Given the description of an element on the screen output the (x, y) to click on. 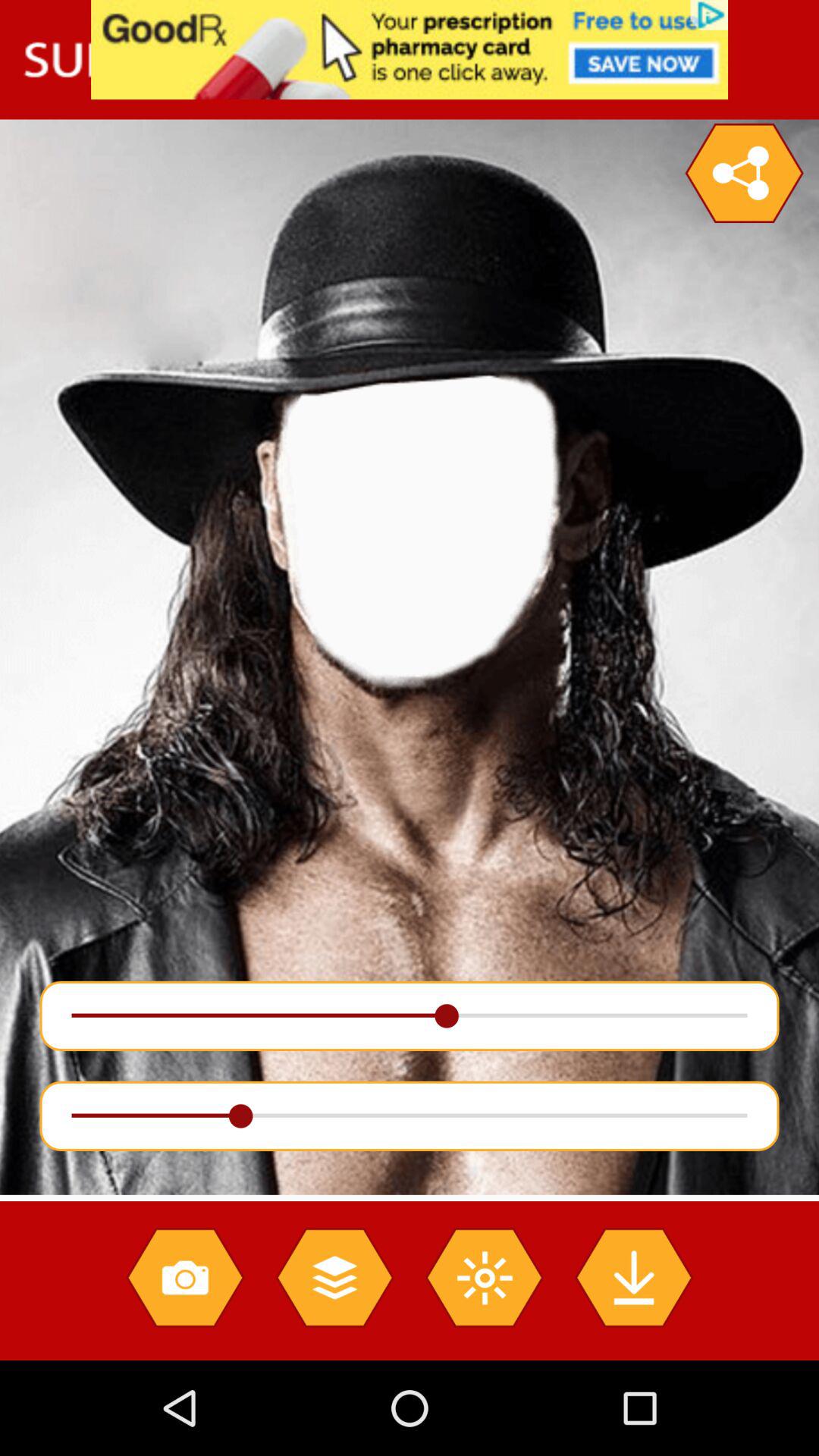
see connections (744, 172)
